Given the description of an element on the screen output the (x, y) to click on. 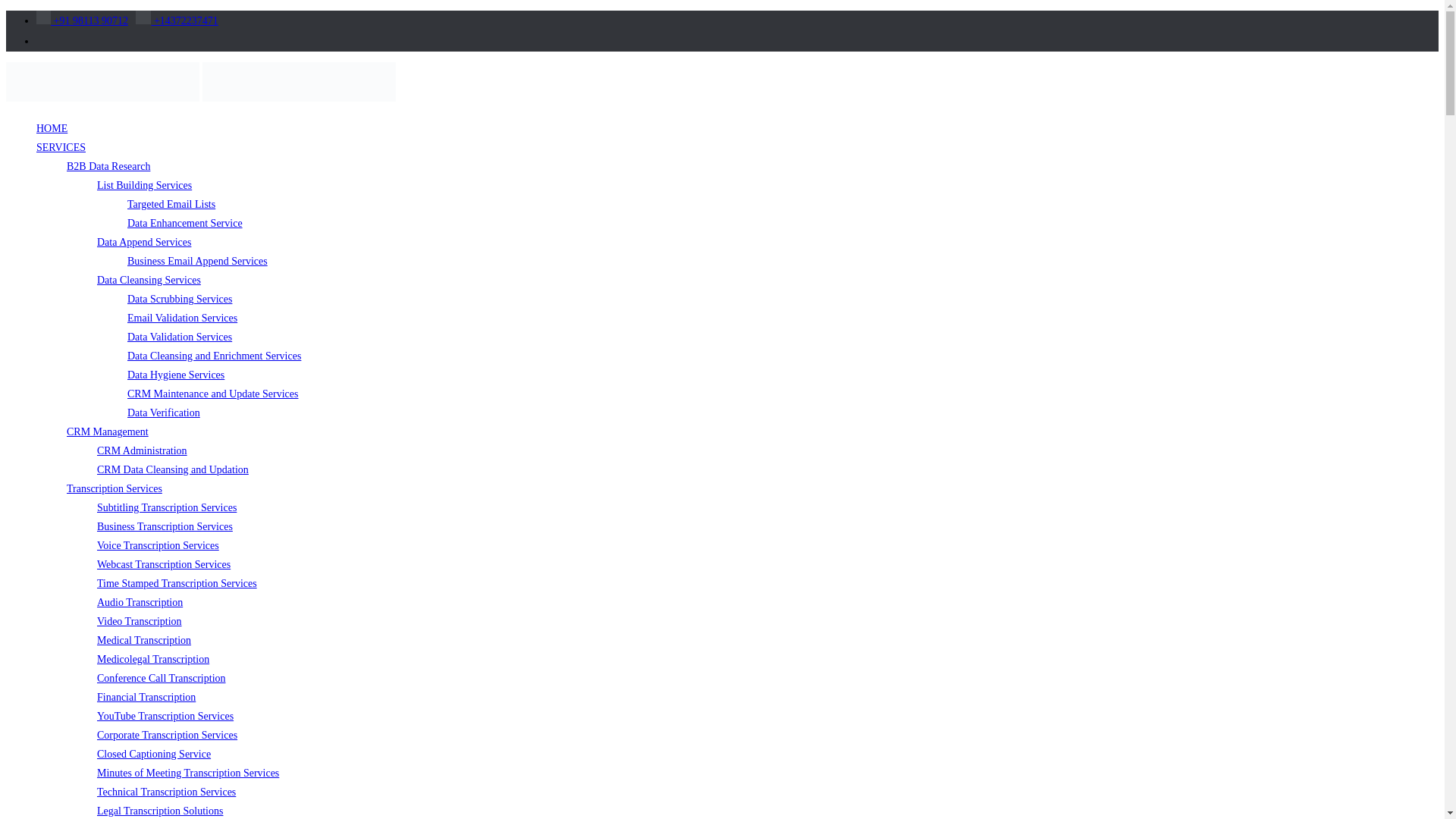
Business Email Append Services (197, 260)
Closed Captioning Service (154, 754)
Corporate Transcription Services (167, 735)
SERVICES (60, 147)
Webcast Transcription Services (163, 564)
Data Verification (164, 412)
Time Stamped Transcription Services (177, 583)
Voice Transcription Services (158, 545)
Business Transcription Services (164, 526)
CRM Management (107, 431)
Data Enhancement Service (185, 223)
Email Validation Services (182, 317)
CRM Administration (142, 450)
List Building Services (144, 184)
CRM Maintenance and Update Services (213, 393)
